Given the description of an element on the screen output the (x, y) to click on. 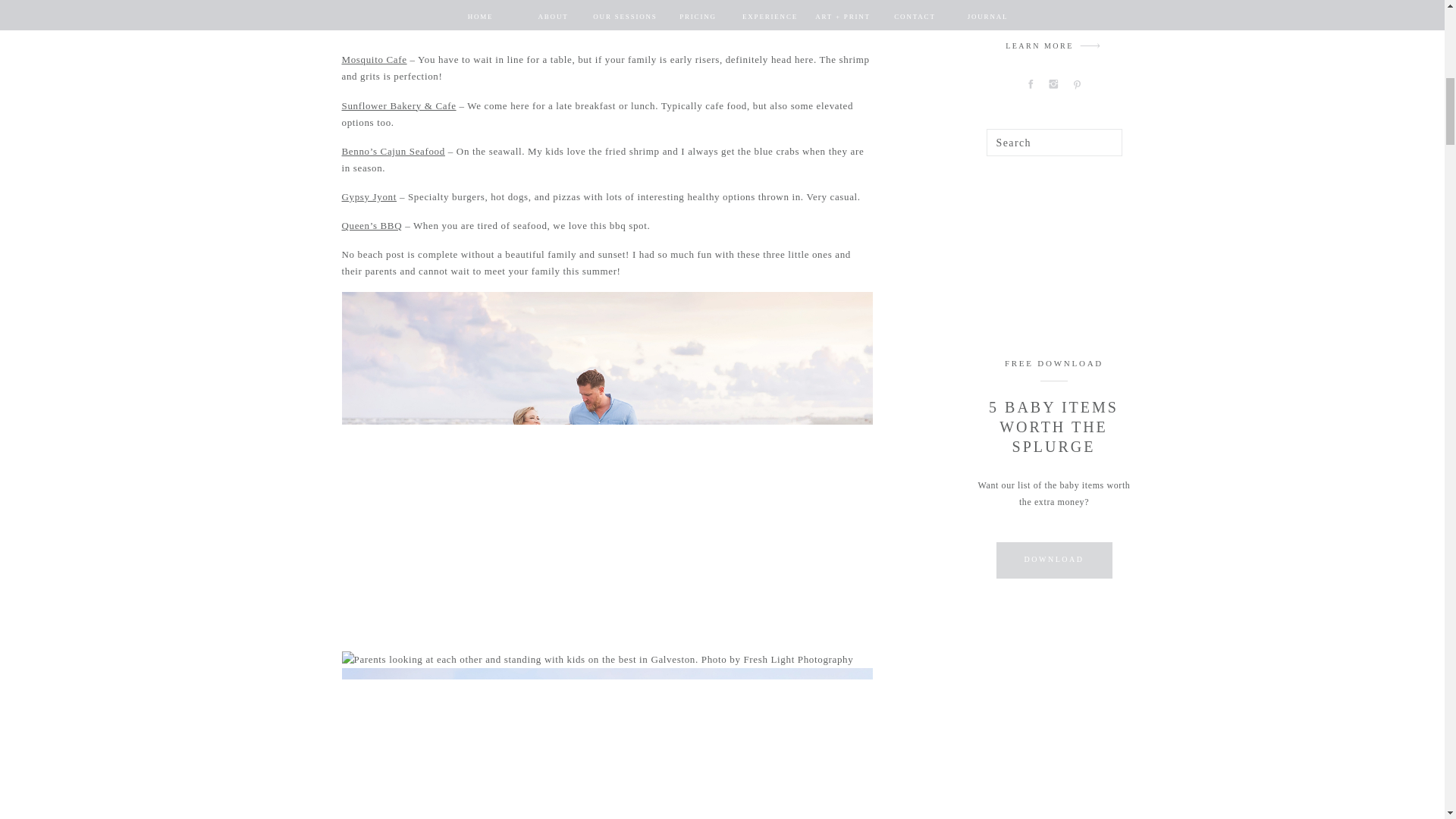
DOWNLOAD (1053, 559)
arrow (1089, 45)
Mosquito Cafe (373, 59)
Pirates of the Gulf Coast (395, 2)
